Given the description of an element on the screen output the (x, y) to click on. 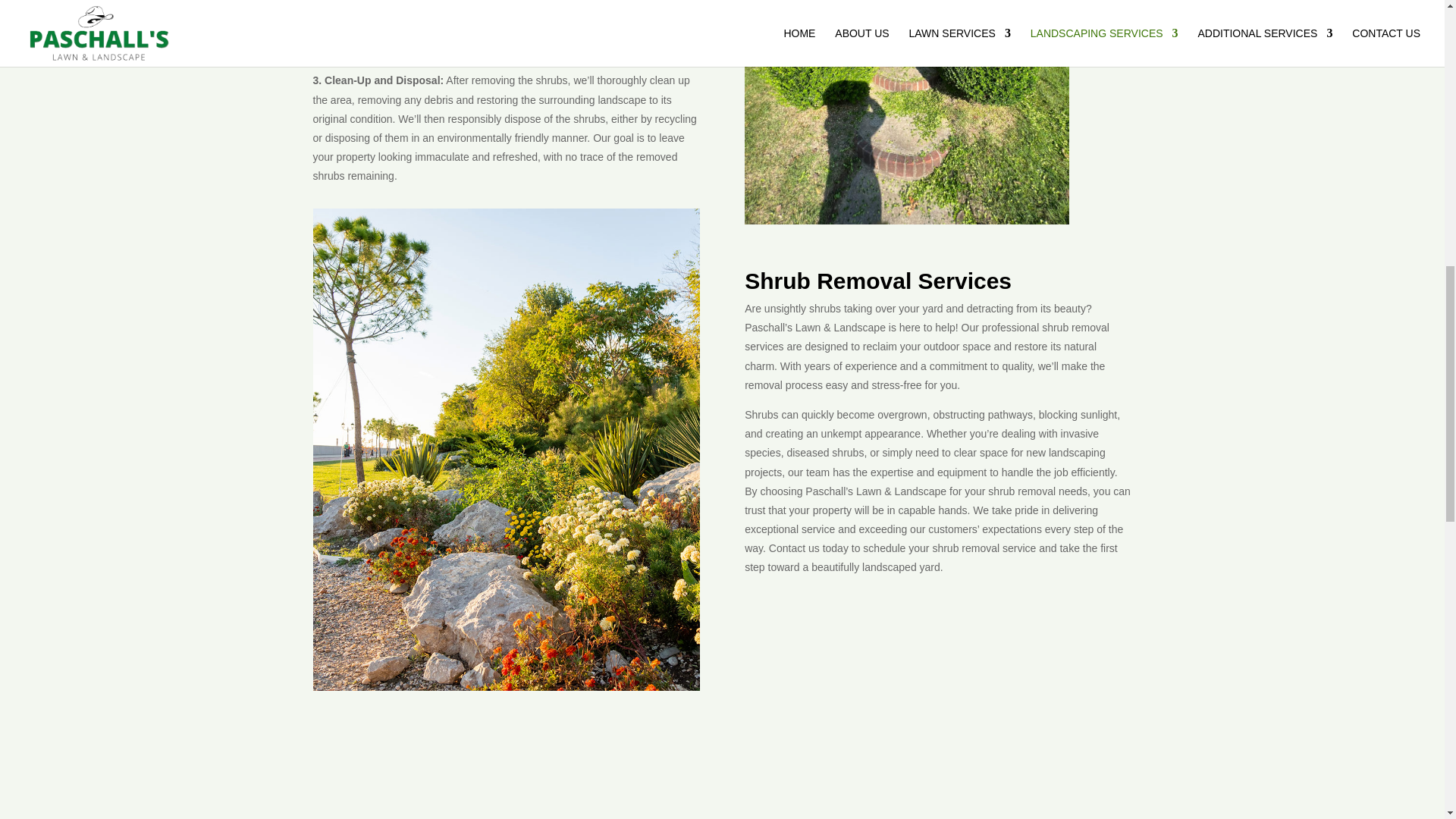
Paschalls-Lawn-and-Landscaping-Tulsa-Bixby-Oklahoma-97 (906, 112)
